Given the description of an element on the screen output the (x, y) to click on. 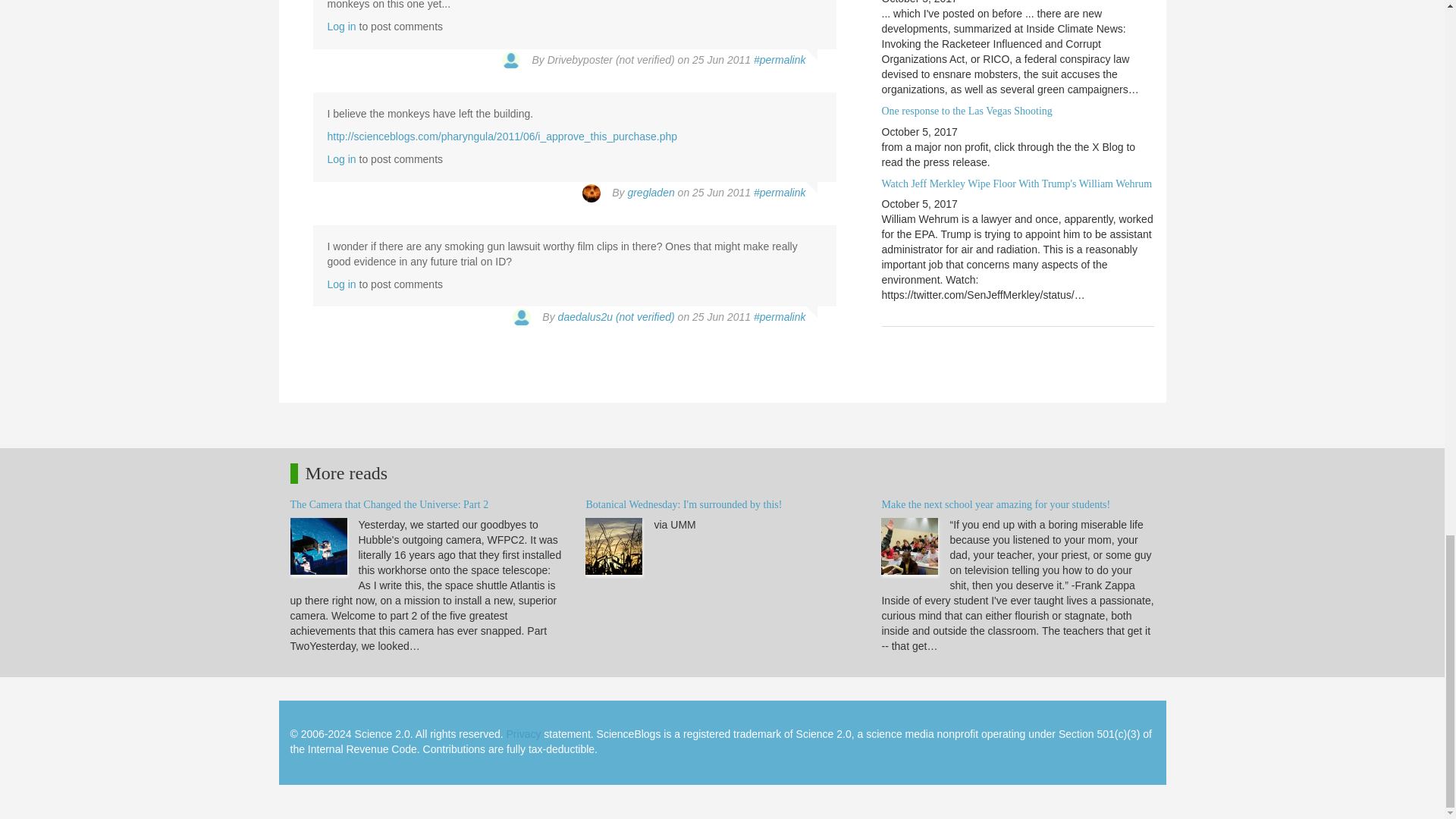
View user profile. (650, 192)
